Given the description of an element on the screen output the (x, y) to click on. 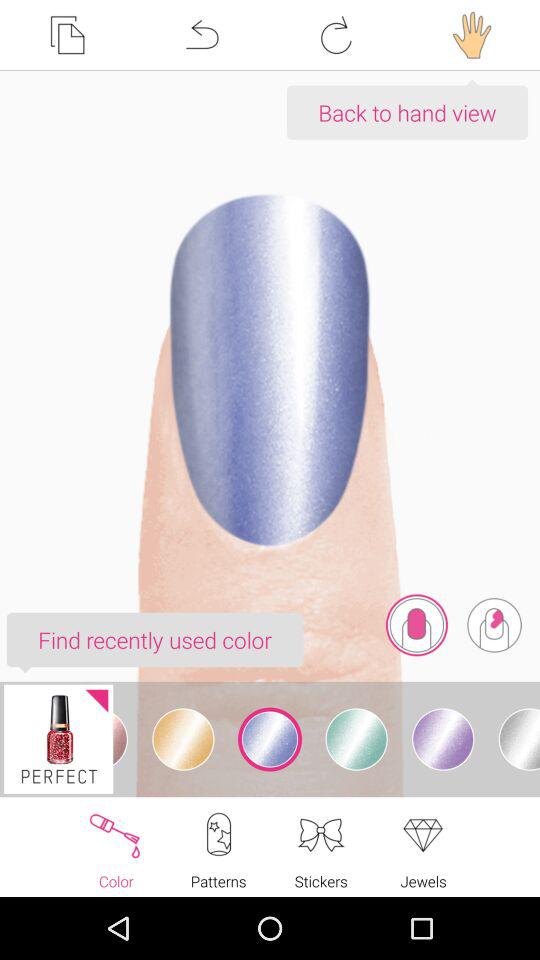
turn off the icon below the back to hand app (493, 625)
